Given the description of an element on the screen output the (x, y) to click on. 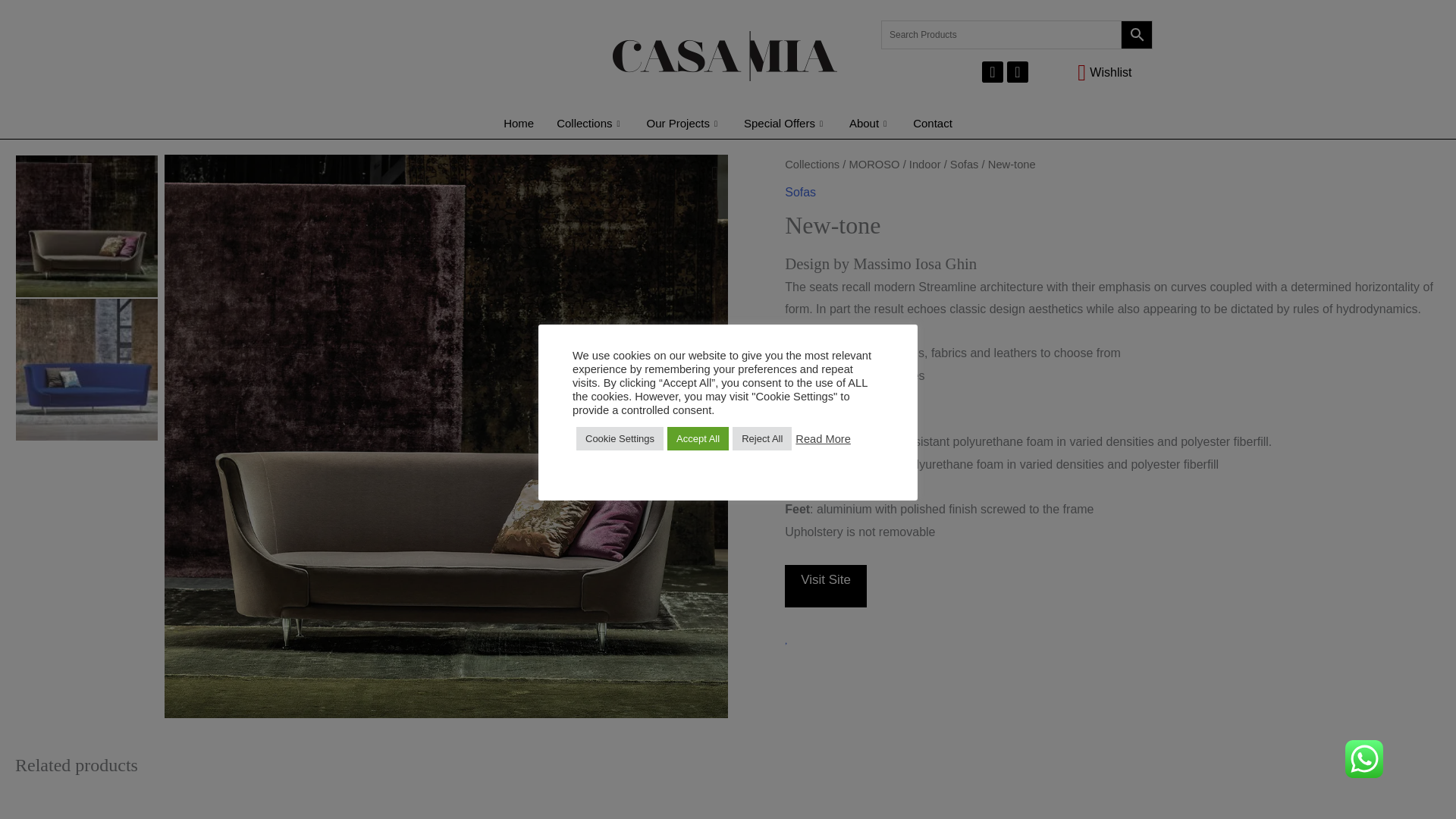
Wishlist (1087, 72)
Facebook-f (992, 71)
Home (518, 123)
Our Projects (683, 123)
Instagram (1017, 71)
Collections (589, 123)
Special Offers (785, 123)
